Given the description of an element on the screen output the (x, y) to click on. 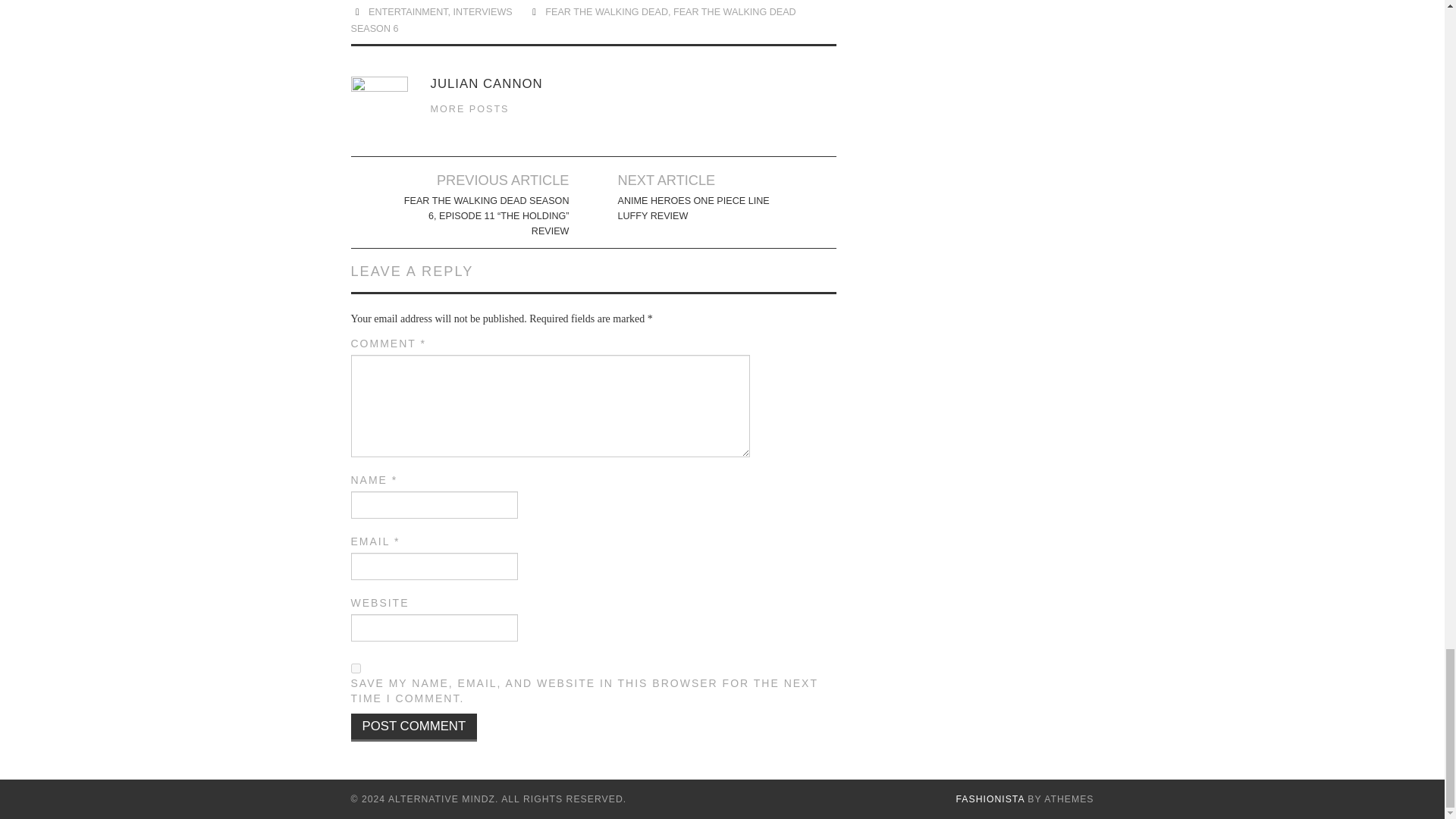
ENTERTAINMENT (408, 11)
Post Comment (413, 727)
MORE POSTS (469, 109)
INTERVIEWS (482, 11)
yes (354, 668)
ANIME HEROES ONE PIECE LINE LUFFY REVIEW (702, 208)
FEAR THE WALKING DEAD SEASON 6 (572, 20)
FASHIONISTA (990, 798)
FEAR THE WALKING DEAD (606, 11)
Post Comment (413, 727)
